Given the description of an element on the screen output the (x, y) to click on. 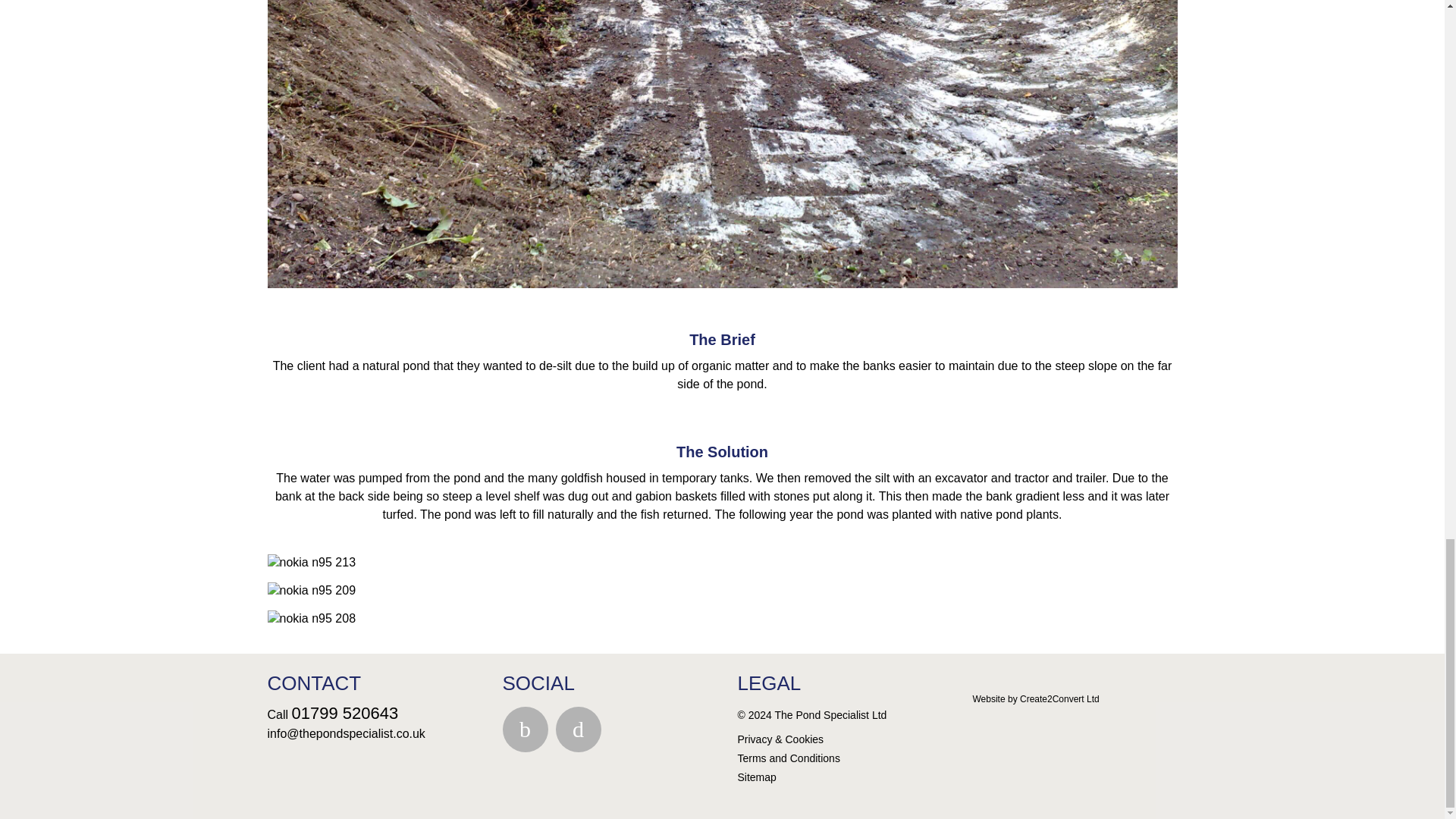
Call Us (345, 712)
Mail Us (345, 733)
